Given the description of an element on the screen output the (x, y) to click on. 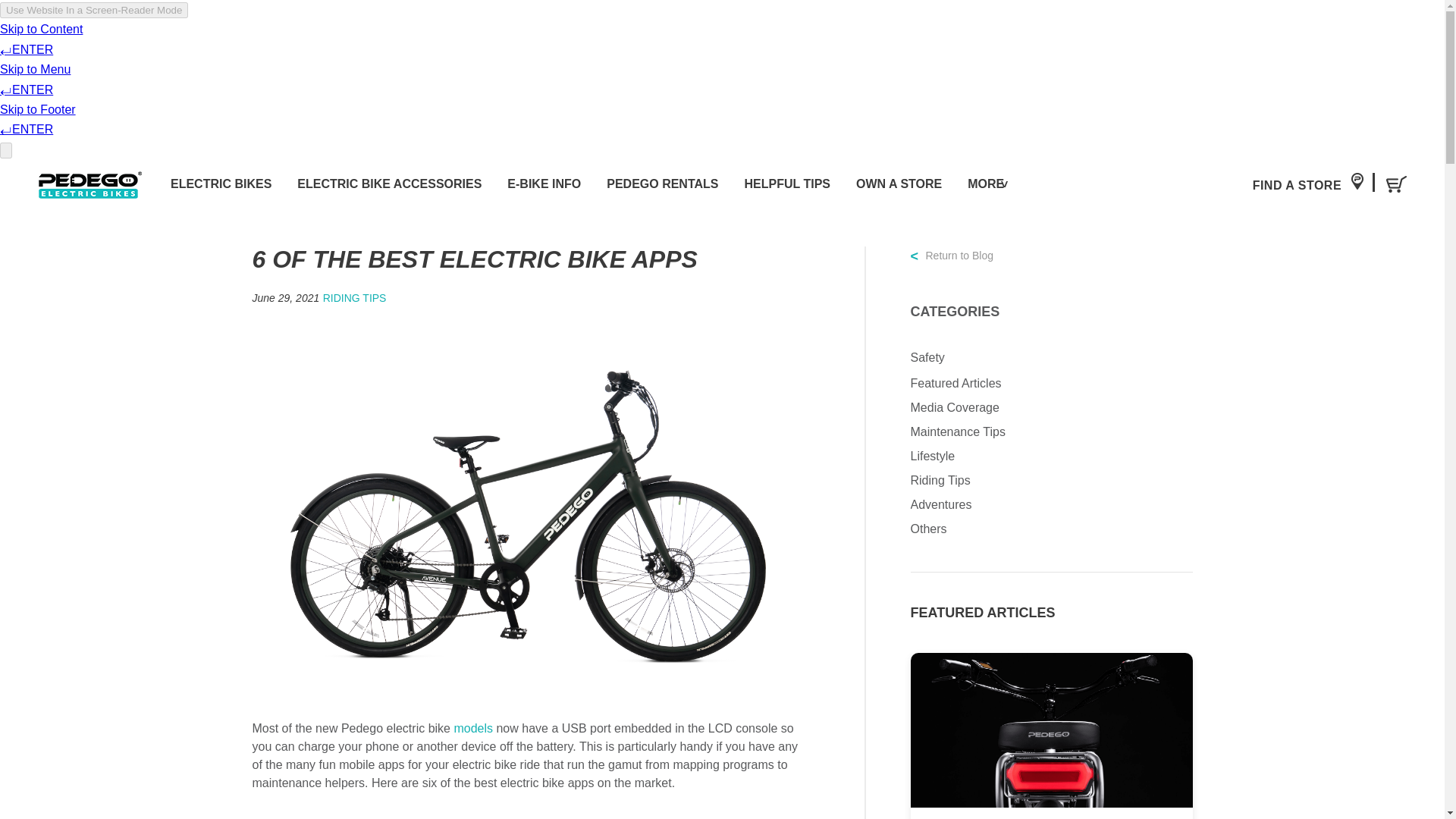
PEDEGO RENTALS (662, 183)
FIND A STORE (1307, 184)
pedego-canada-logo (89, 185)
strava (528, 811)
E-BIKE INFO (543, 183)
models (472, 728)
HELPFUL TIPS (787, 183)
ELECTRIC BIKES (220, 183)
RIDING TIPS (355, 298)
pedego-canada-logo (89, 183)
OWN A STORE (899, 183)
ELECTRIC BIKE ACCESSORIES (389, 183)
